Given the description of an element on the screen output the (x, y) to click on. 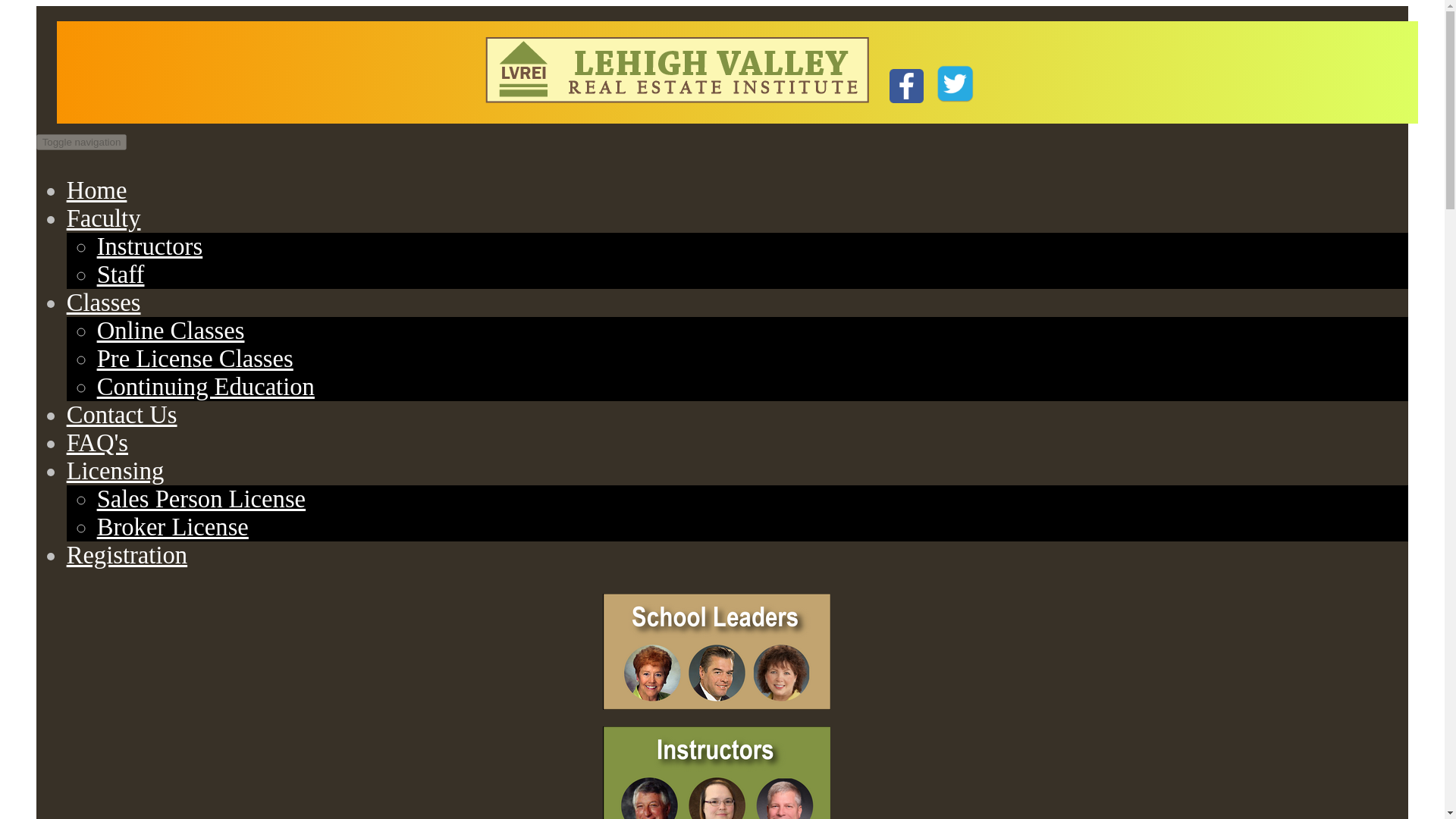
FAQ's (97, 442)
Toggle navigation (82, 141)
Registration (126, 554)
Staff (120, 274)
Online Classes (170, 329)
Faculty (103, 217)
Classes (103, 302)
Contact Us (121, 414)
Pre License Classes (195, 358)
Sales Person License (201, 498)
Instructors (150, 246)
Licensing (115, 470)
Continuing Education (205, 386)
Home (97, 189)
Broker License (172, 526)
